Given the description of an element on the screen output the (x, y) to click on. 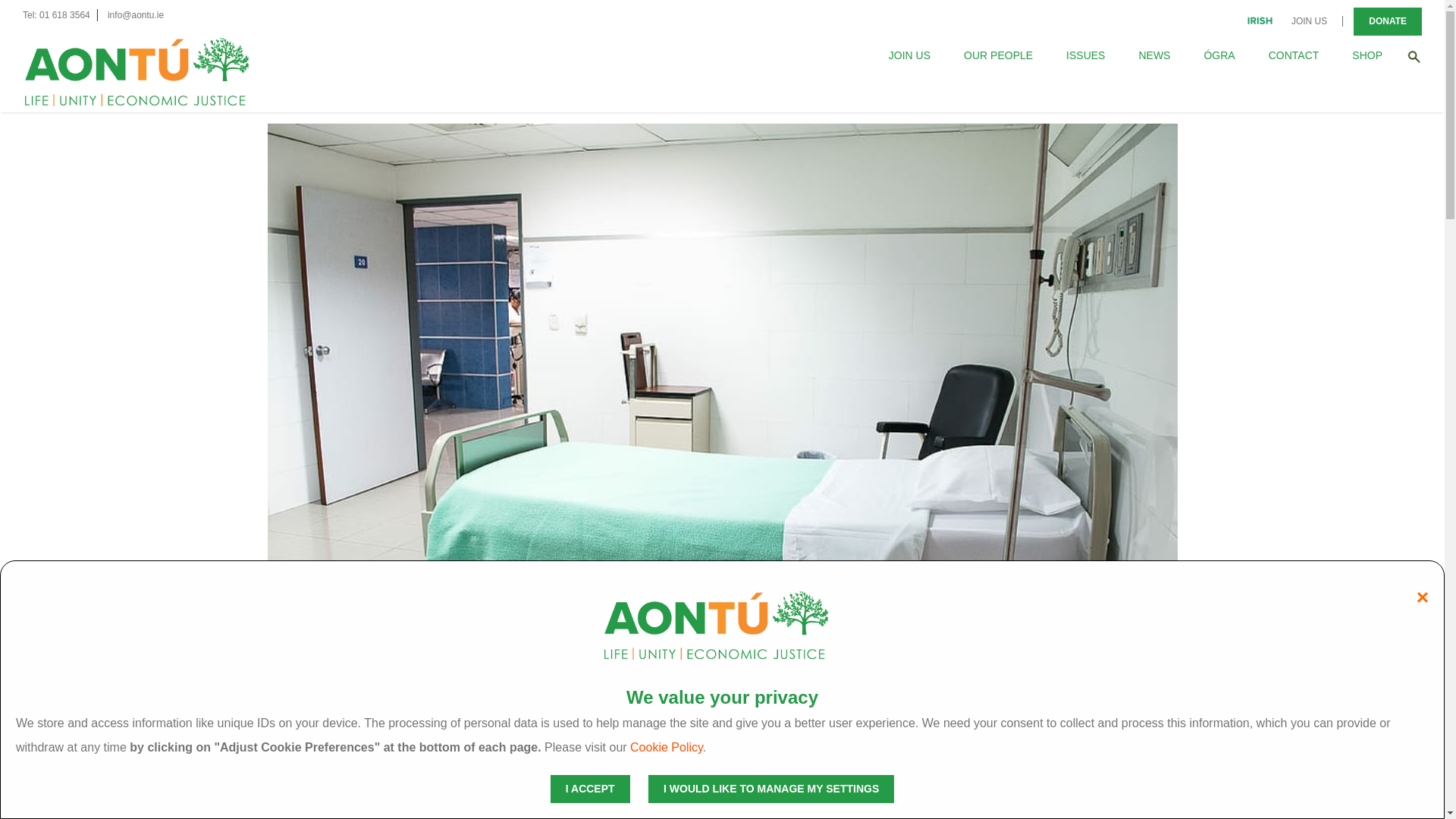
ISSUES (1085, 54)
View Irish language version of this page (1259, 18)
JOIN US (909, 54)
OUR PEOPLE (998, 54)
Tel: 01 618 3564 (56, 14)
JOIN US (1309, 20)
DONATE (1388, 21)
